Given the description of an element on the screen output the (x, y) to click on. 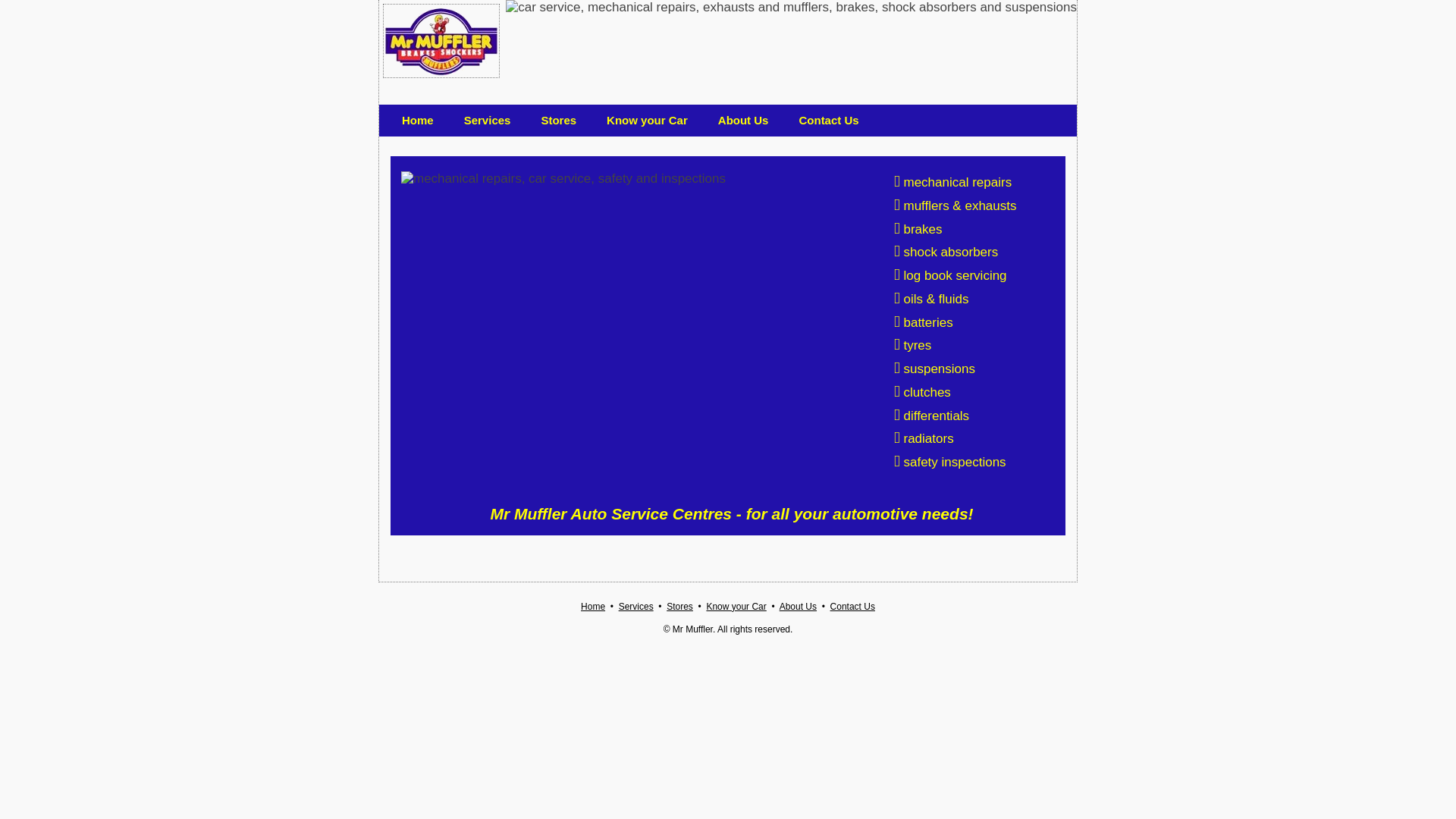
About Us Element type: text (743, 119)
Know your Car Element type: text (646, 119)
Contact Us Element type: text (852, 605)
Stores Element type: text (558, 119)
Services Element type: text (487, 119)
Know your Car Element type: text (735, 605)
About Us Element type: text (797, 605)
Home Element type: text (417, 119)
Contact Us Element type: text (828, 119)
Services Element type: text (635, 605)
Mr Muffler Element type: hover (440, 40)
Stores Element type: text (679, 605)
Home Element type: text (592, 605)
